Given the description of an element on the screen output the (x, y) to click on. 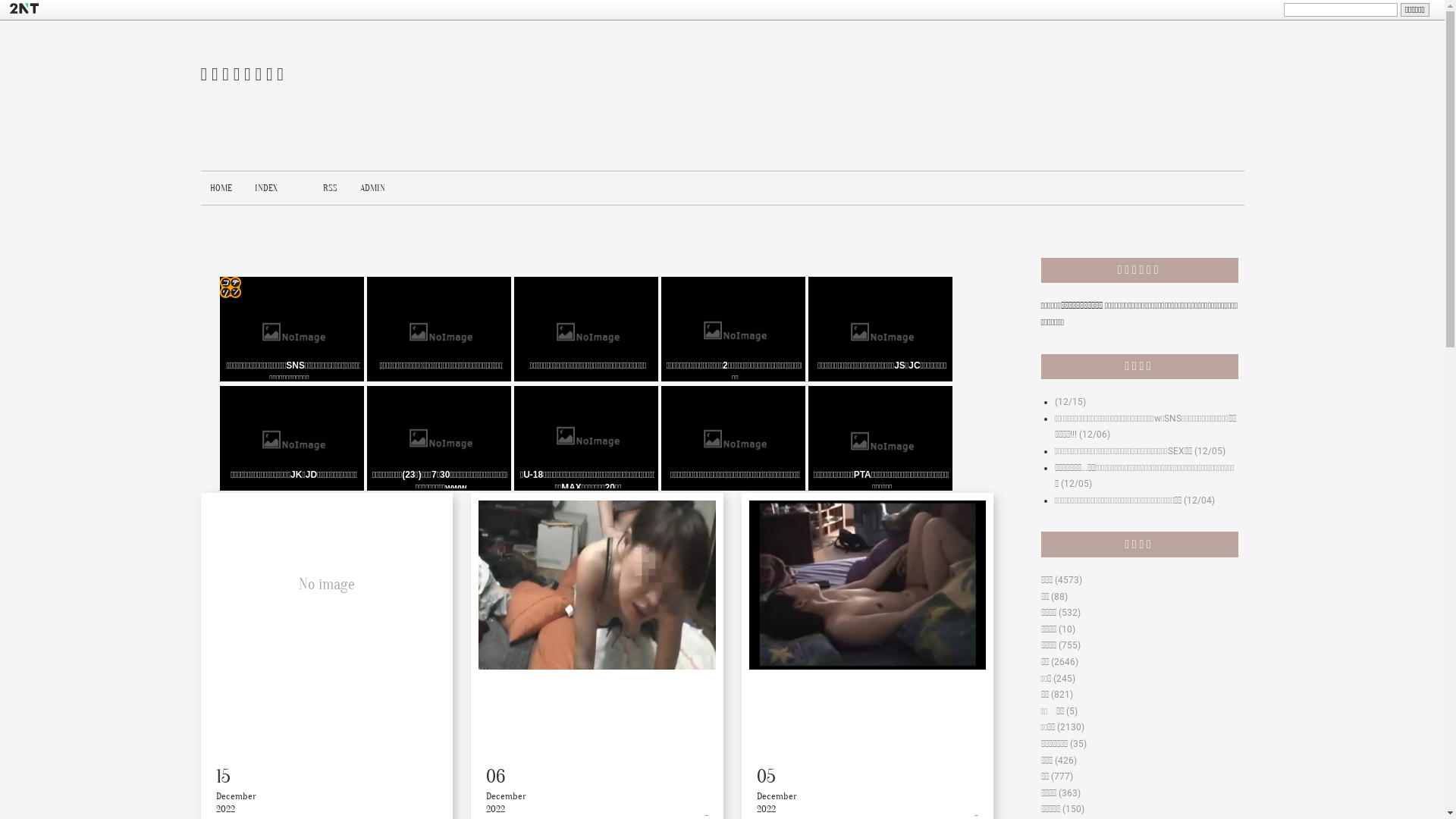
HOME Element type: text (220, 187)
ADMIN Element type: text (371, 187)
INDEX Element type: text (265, 187)
(12/15) Element type: text (1069, 401)
No image Element type: text (326, 584)
RSS Element type: text (330, 187)
